Given the description of an element on the screen output the (x, y) to click on. 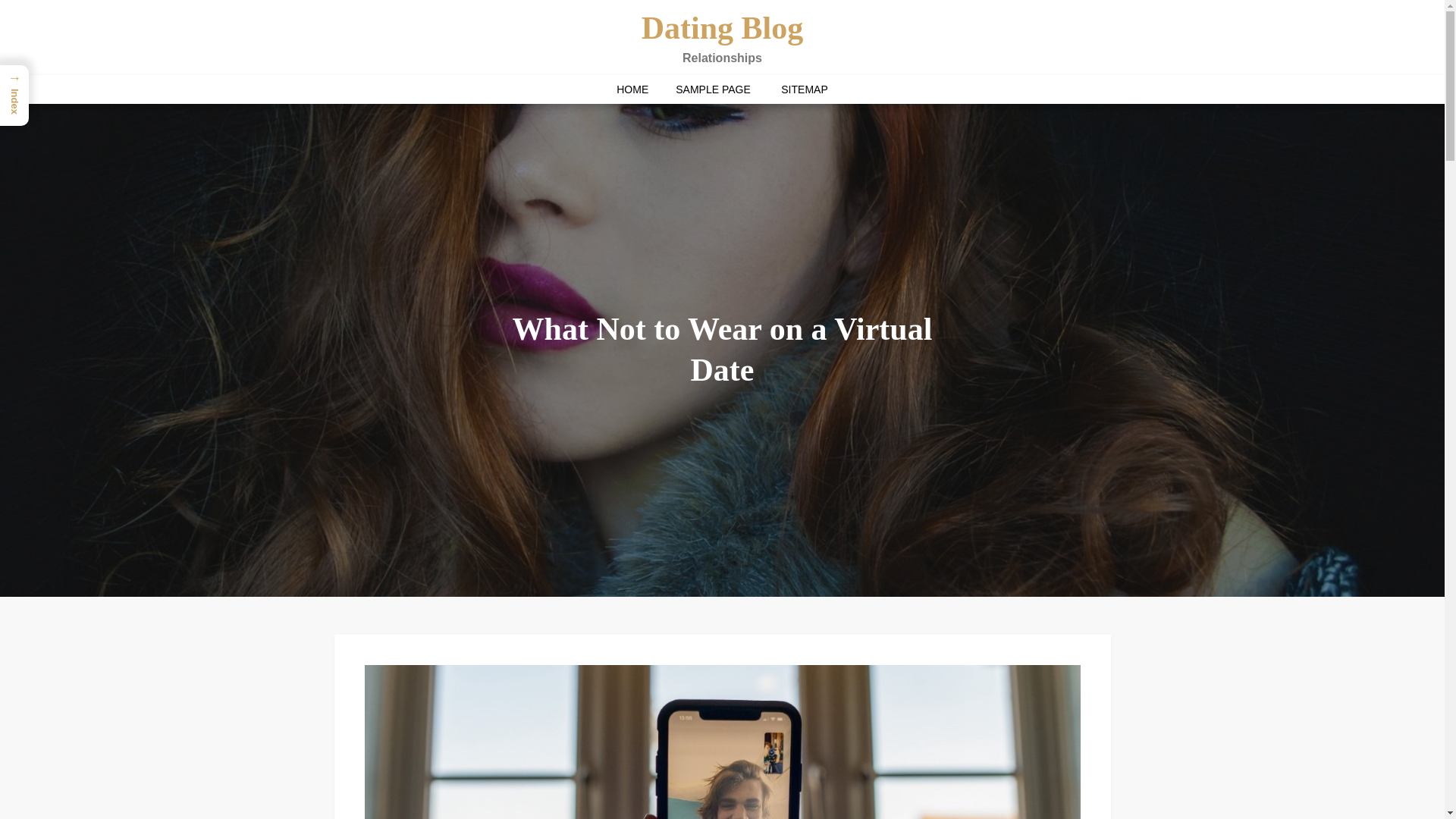
SAMPLE PAGE (713, 89)
SITEMAP (804, 89)
Dating Blog (722, 27)
HOME (632, 89)
